Given the description of an element on the screen output the (x, y) to click on. 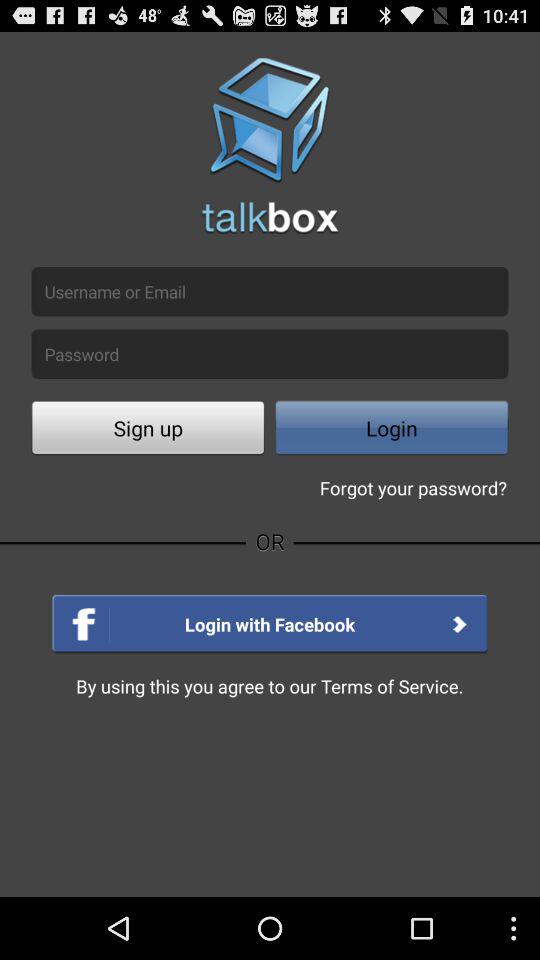
select the item at the bottom (269, 685)
